Given the description of an element on the screen output the (x, y) to click on. 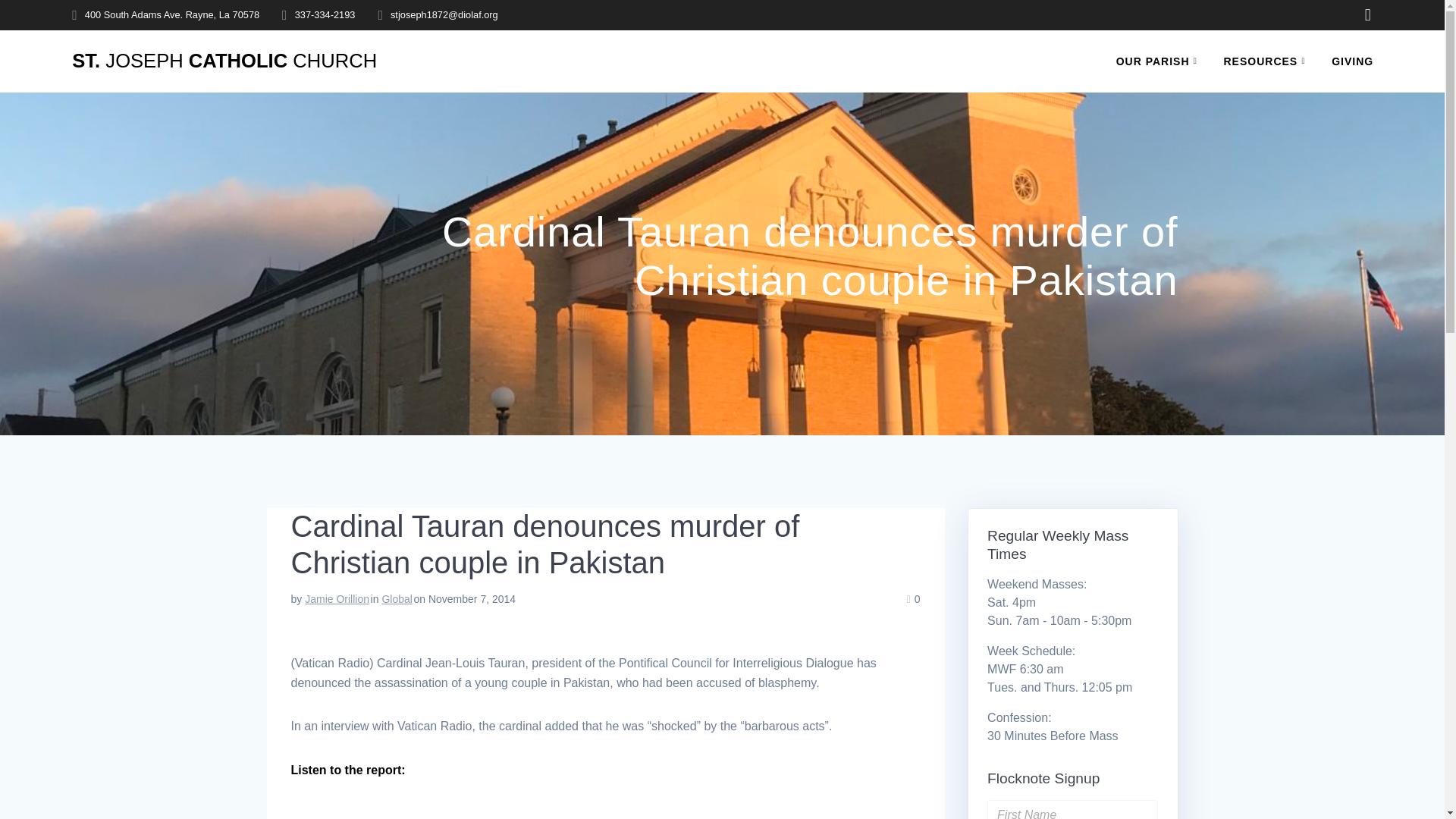
ST. JOSEPH CATHOLIC CHURCH (224, 61)
GIVING (1352, 61)
Posts by Jamie Orillion (336, 598)
OUR PARISH (1160, 61)
Global (396, 598)
Jamie Orillion (336, 598)
RESOURCES (1267, 61)
